Given the description of an element on the screen output the (x, y) to click on. 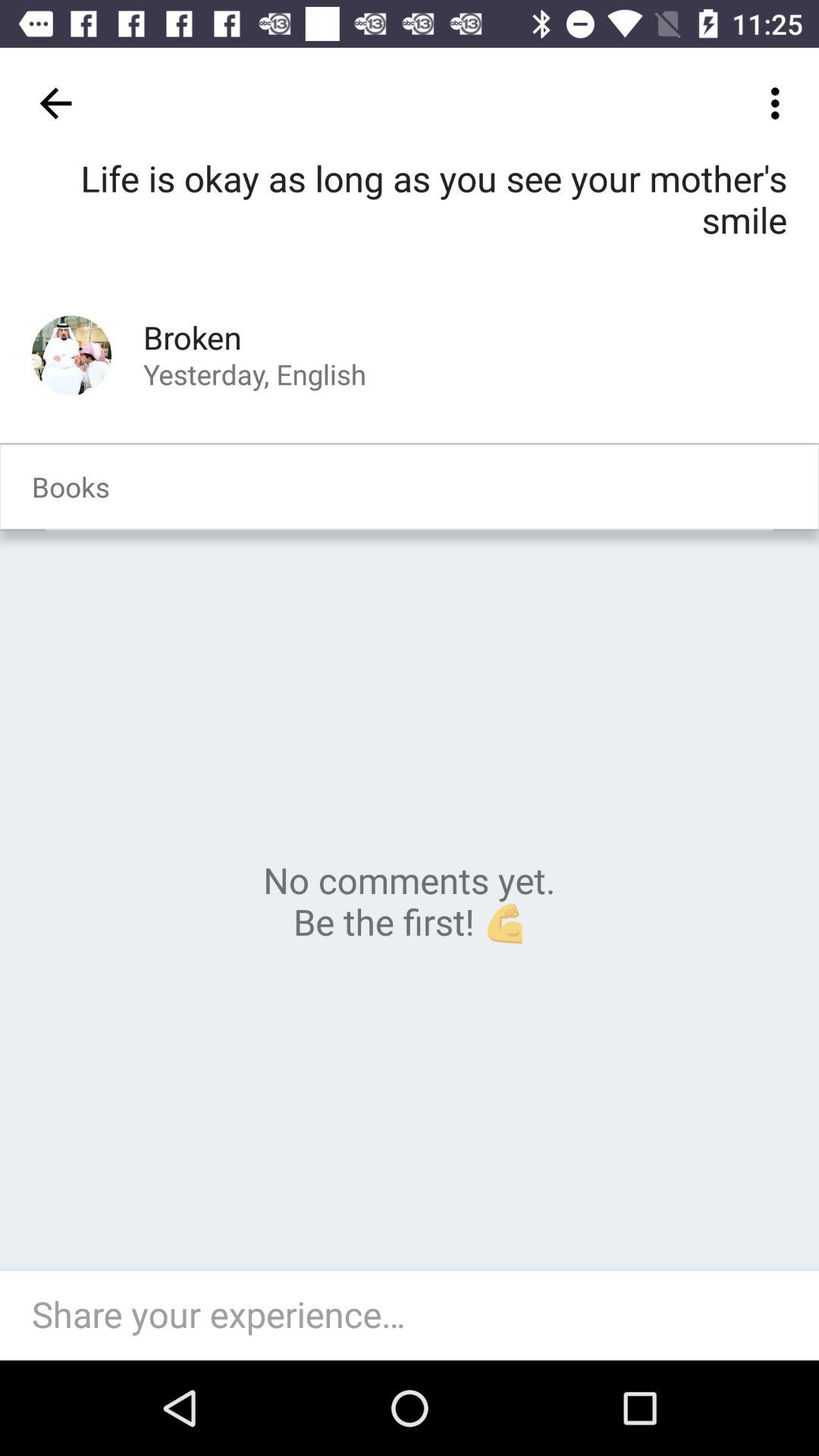
select author (71, 355)
